Given the description of an element on the screen output the (x, y) to click on. 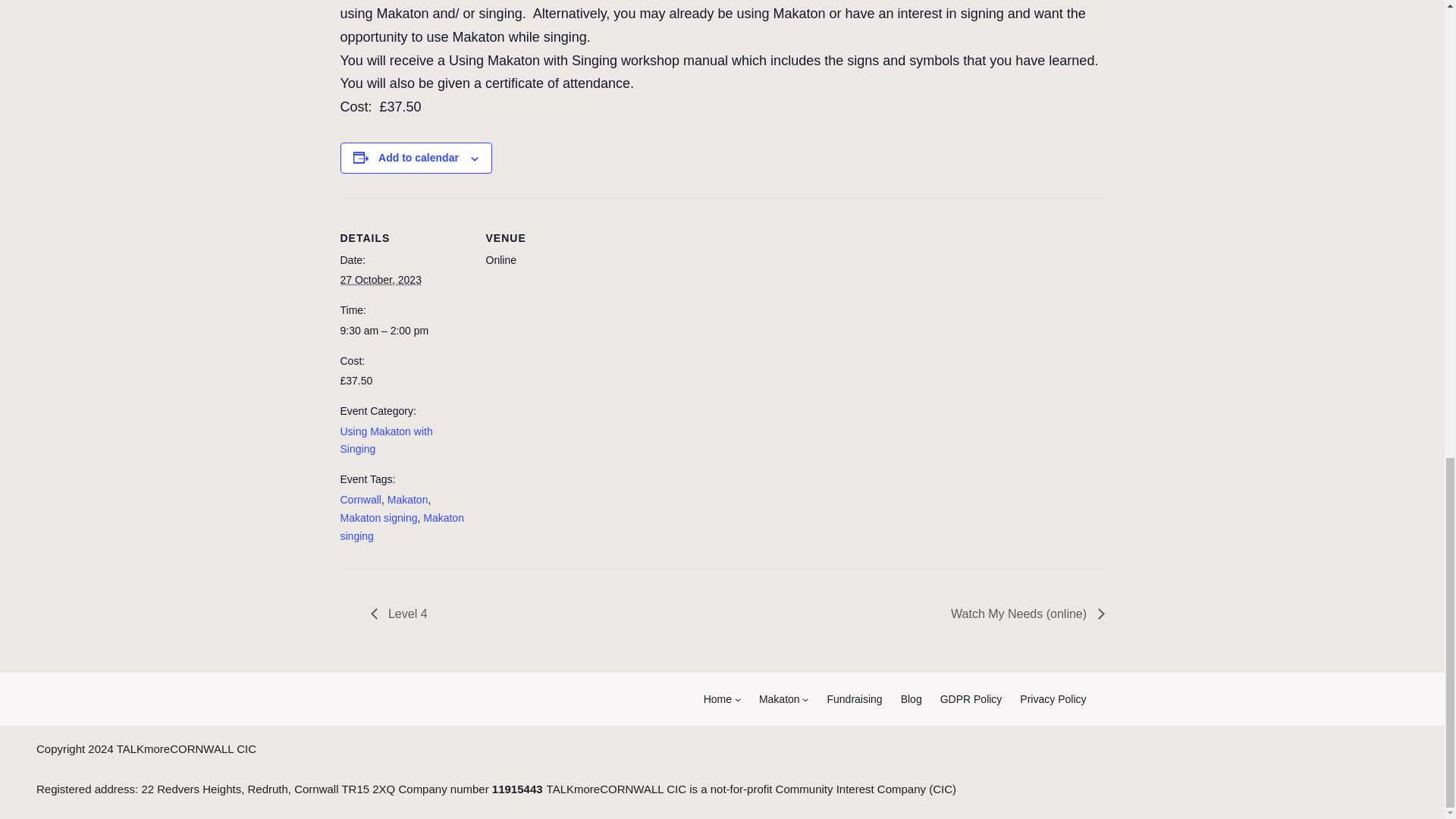
Makaton signing (377, 517)
Add to calendar (418, 157)
Home (717, 699)
Cornwall (359, 499)
2023-10-27 (403, 331)
Using Makaton with Singing (385, 440)
Level 4 (402, 613)
Makaton (407, 499)
2023-10-27 (379, 279)
Makaton singing (401, 526)
